Given the description of an element on the screen output the (x, y) to click on. 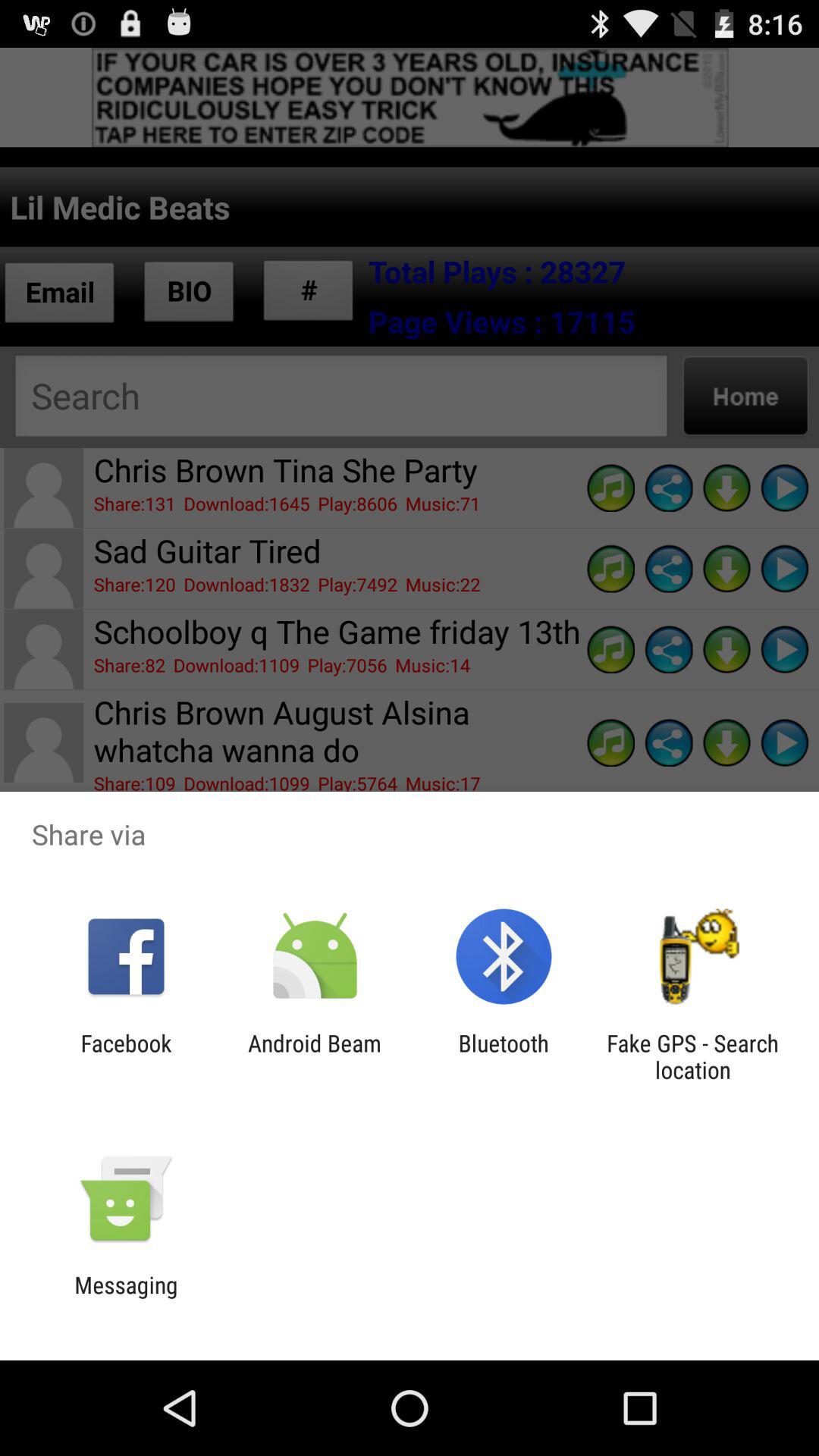
scroll until the facebook (125, 1056)
